Given the description of an element on the screen output the (x, y) to click on. 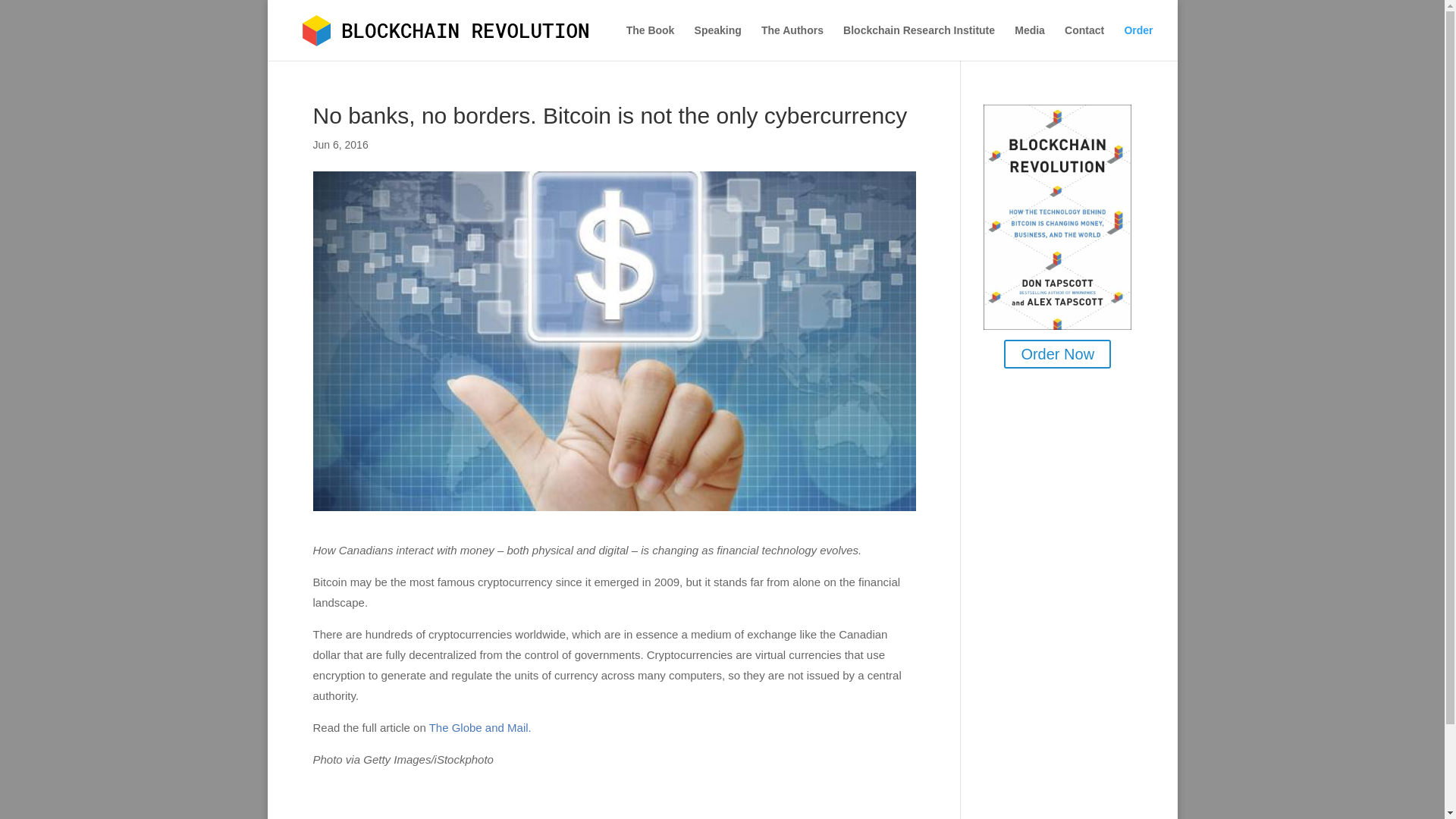
The Authors (792, 42)
Speaking (717, 42)
The Book (650, 42)
Blockchain Research Institute (918, 42)
Order Now (1057, 353)
The Globe and Mail. (480, 727)
Contact (1083, 42)
